Given the description of an element on the screen output the (x, y) to click on. 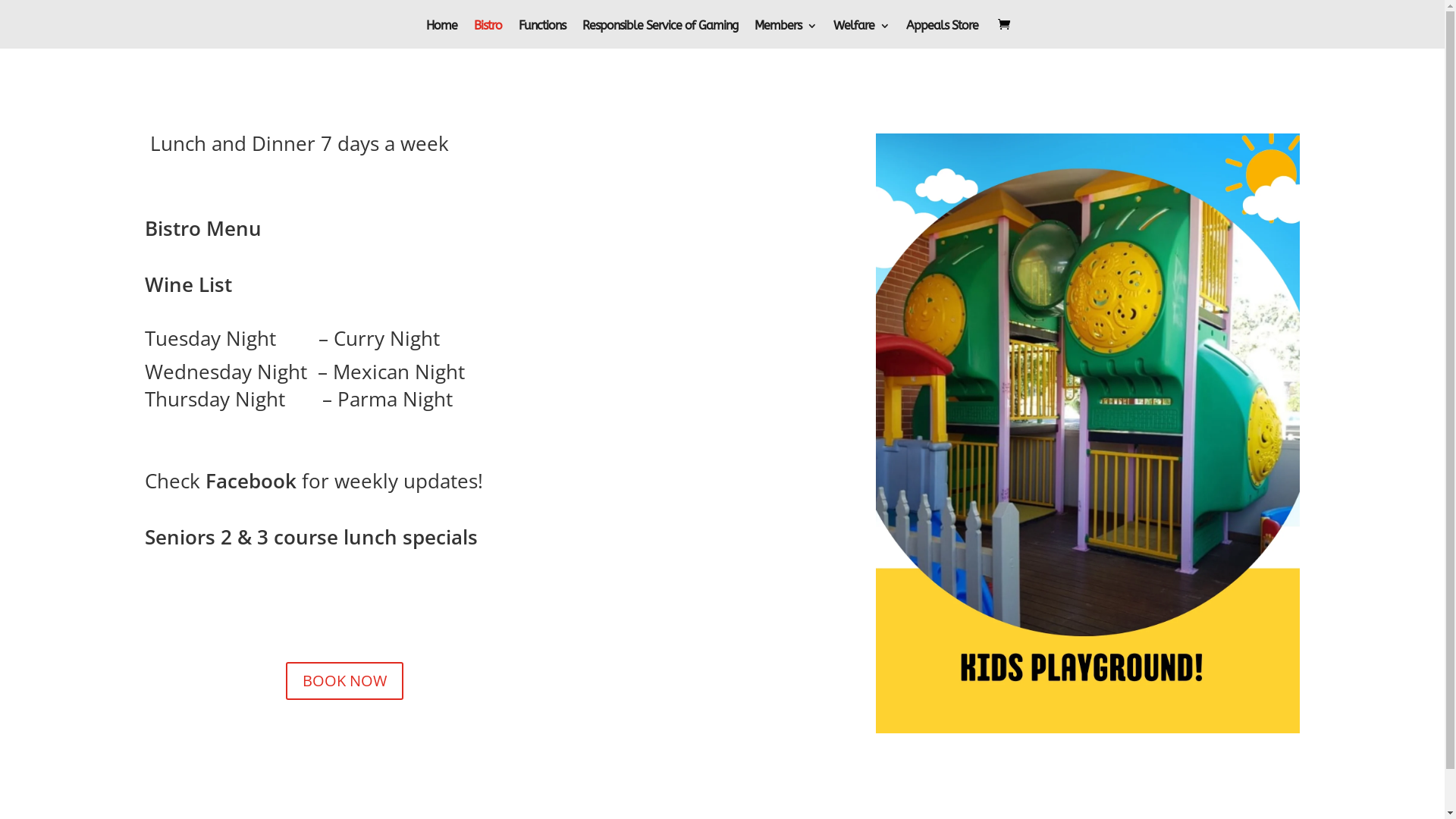
Home Element type: text (441, 33)
Facebook Element type: text (249, 480)
Welfare Element type: text (860, 33)
Responsible Service of Gaming Element type: text (659, 33)
Seniors 2 & 3 course lunch specials Element type: text (310, 536)
BOOK NOW Element type: text (343, 680)
Members Element type: text (784, 33)
Bistro Element type: text (487, 33)
Appeals Store Element type: text (941, 33)
Functions Element type: text (541, 33)
Bistro Menu Element type: text (202, 227)
Wine List Element type: text (187, 284)
